Given the description of an element on the screen output the (x, y) to click on. 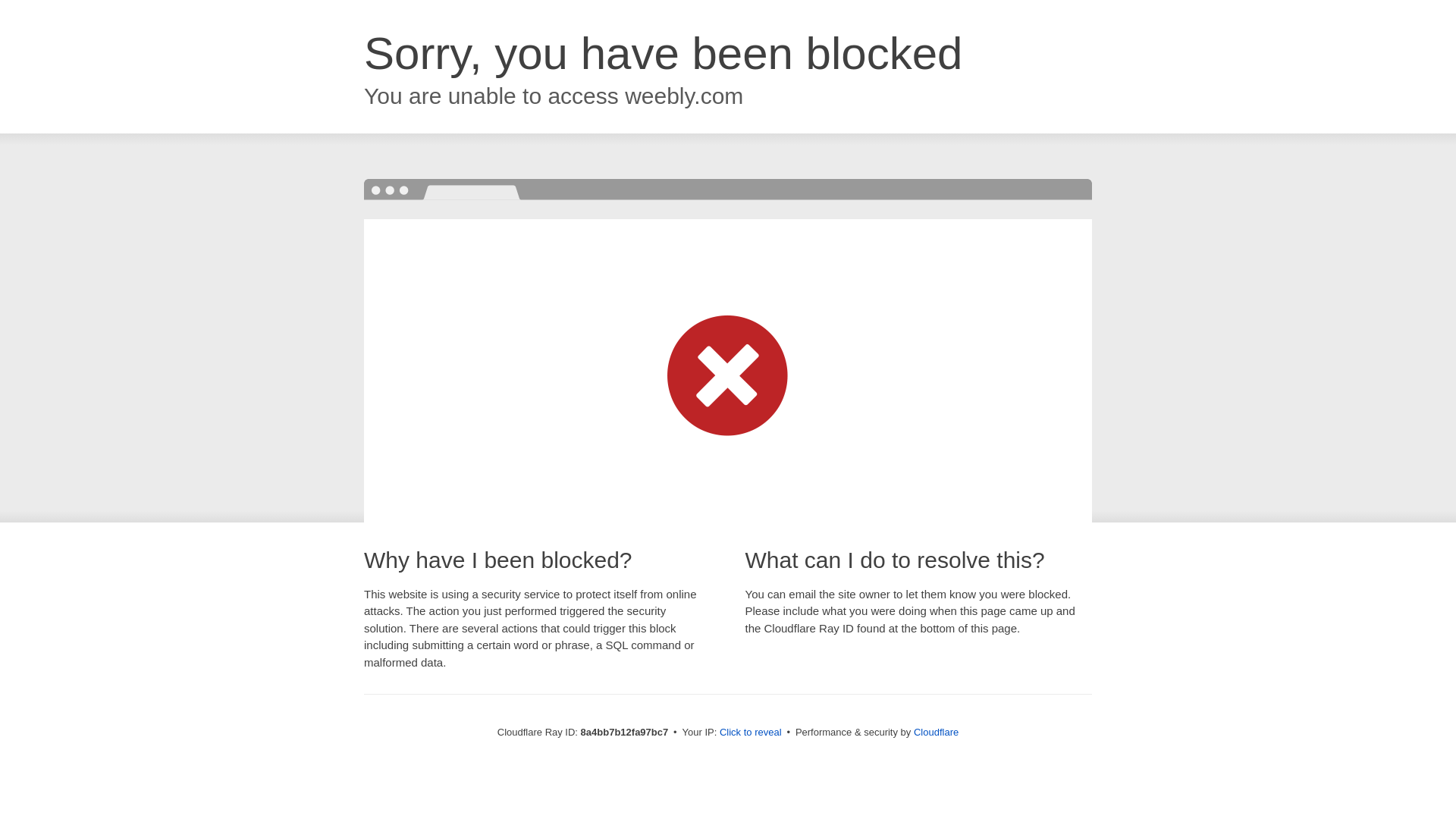
Click to reveal (750, 732)
Cloudflare (936, 731)
